Given the description of an element on the screen output the (x, y) to click on. 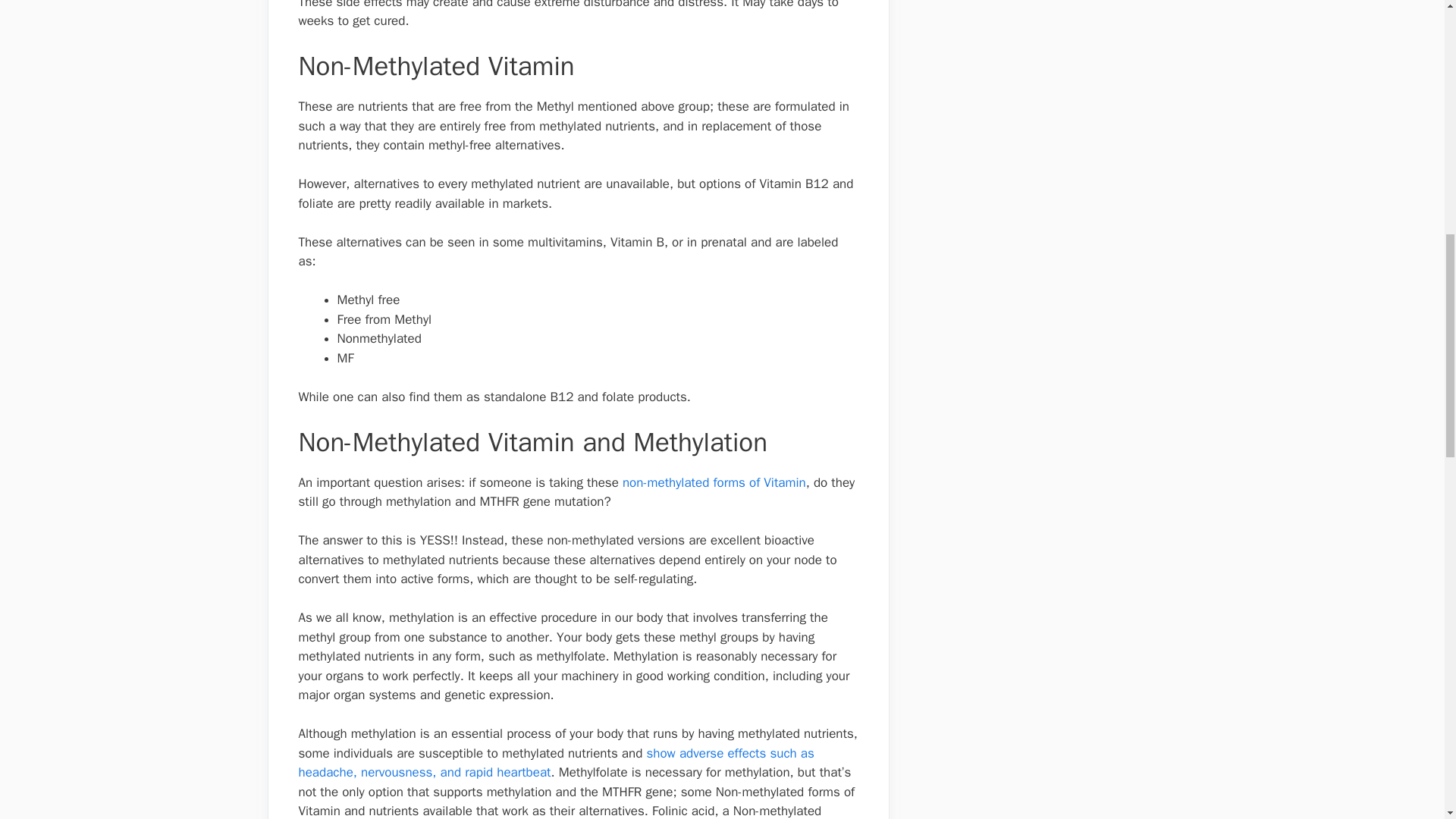
non-methylated forms of Vitamin (714, 482)
